Given the description of an element on the screen output the (x, y) to click on. 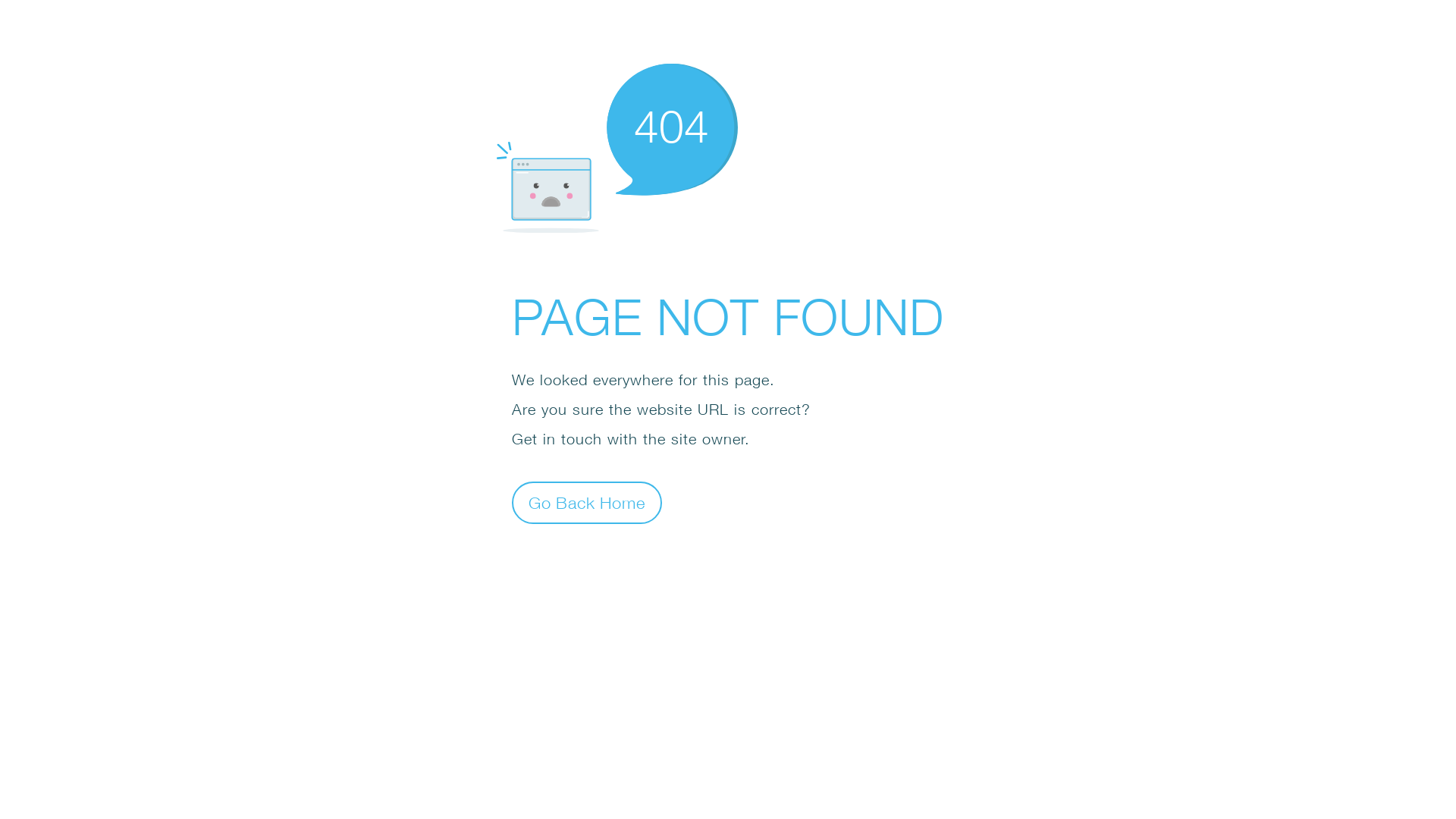
Go Back Home Element type: text (586, 502)
